Given the description of an element on the screen output the (x, y) to click on. 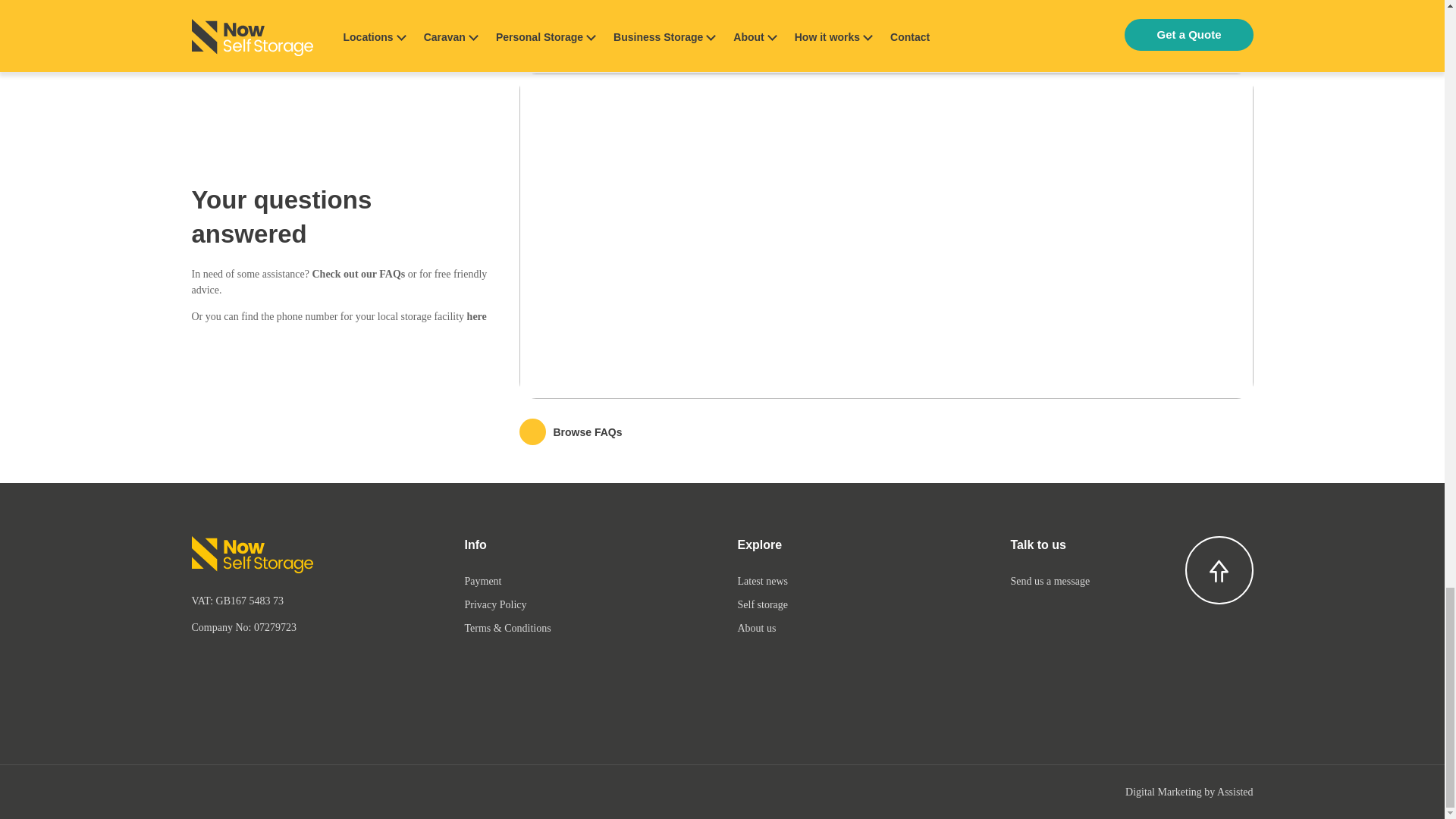
Now Storage (251, 557)
